Given the description of an element on the screen output the (x, y) to click on. 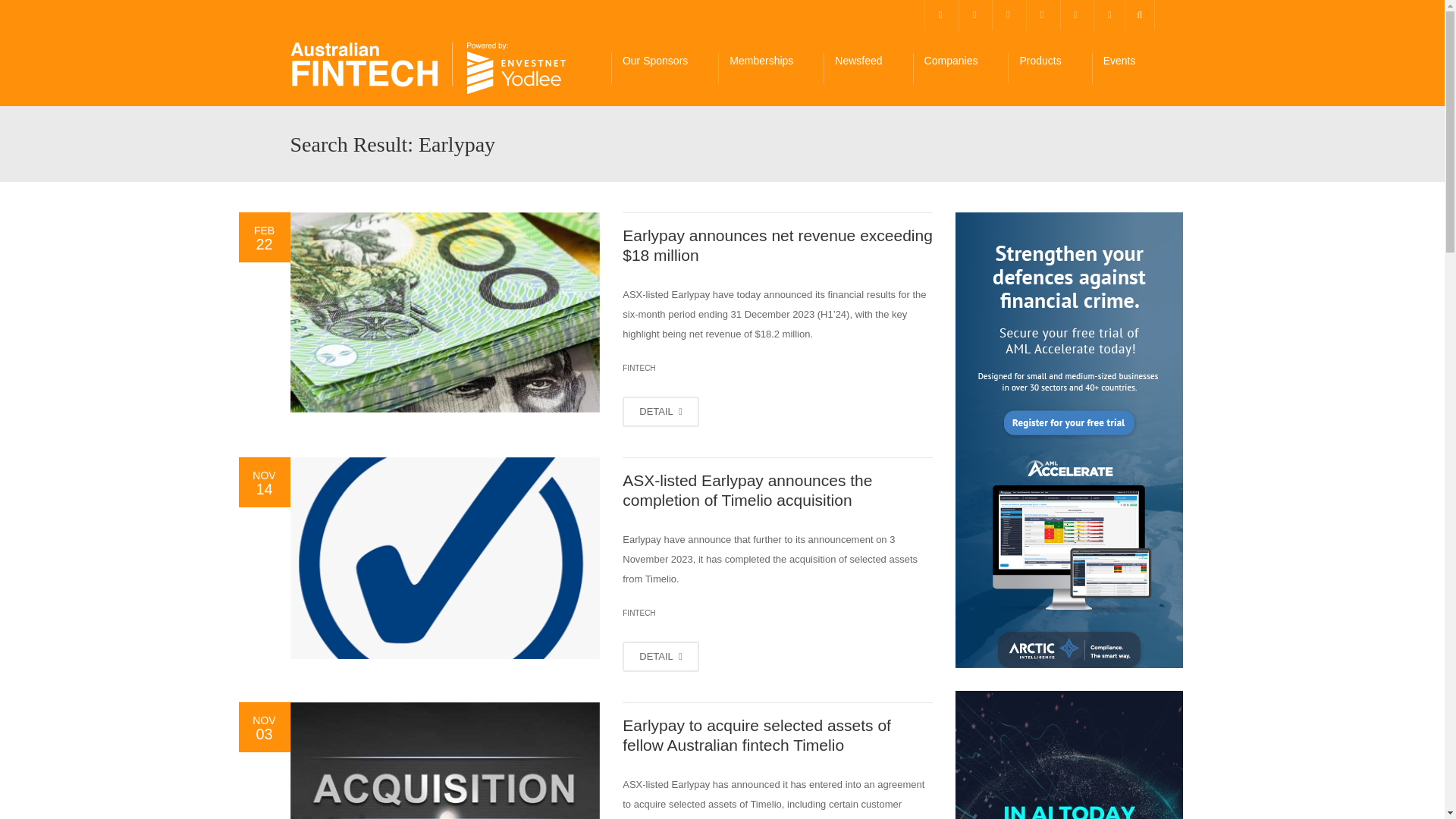
You searched for Earlypay - Australian FinTech (428, 67)
FINTECH (639, 367)
DETAIL (660, 410)
Our Sponsors (664, 68)
Newsfeed (868, 68)
Products (1048, 68)
Memberships (770, 68)
